Given the description of an element on the screen output the (x, y) to click on. 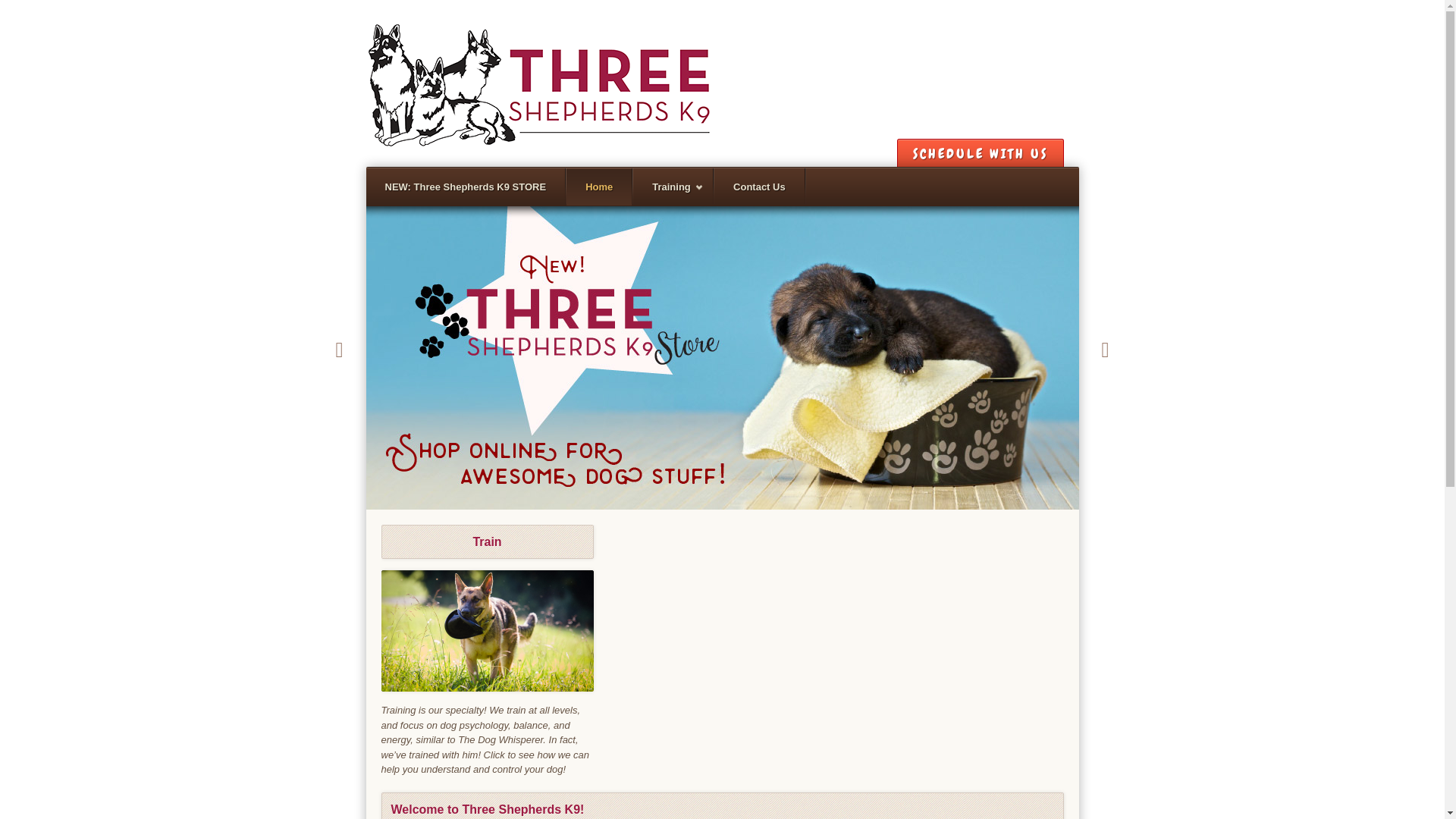
NEW: Three Shepherds K9 STORE Element type: text (464, 187)
Front page slider: 2 Element type: hover (736, 357)
Train Element type: hover (486, 630)
Three Shepherds K9- Dog kennel, Grooming, and Training Element type: hover (538, 82)
SCHEDULE WITH US Element type: text (979, 152)
Contact Us Element type: text (759, 187)
Home Element type: text (598, 187)
